Given the description of an element on the screen output the (x, y) to click on. 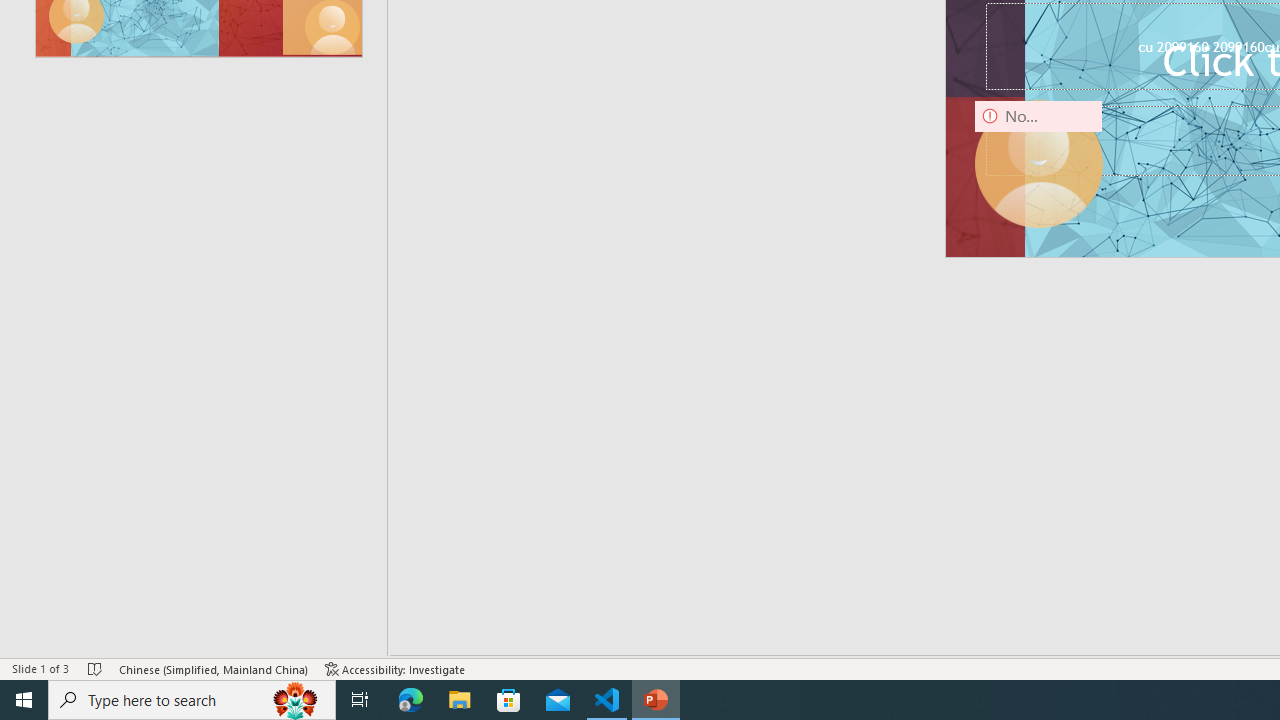
Camera 9, No camera detected. (1037, 164)
